Given the description of an element on the screen output the (x, y) to click on. 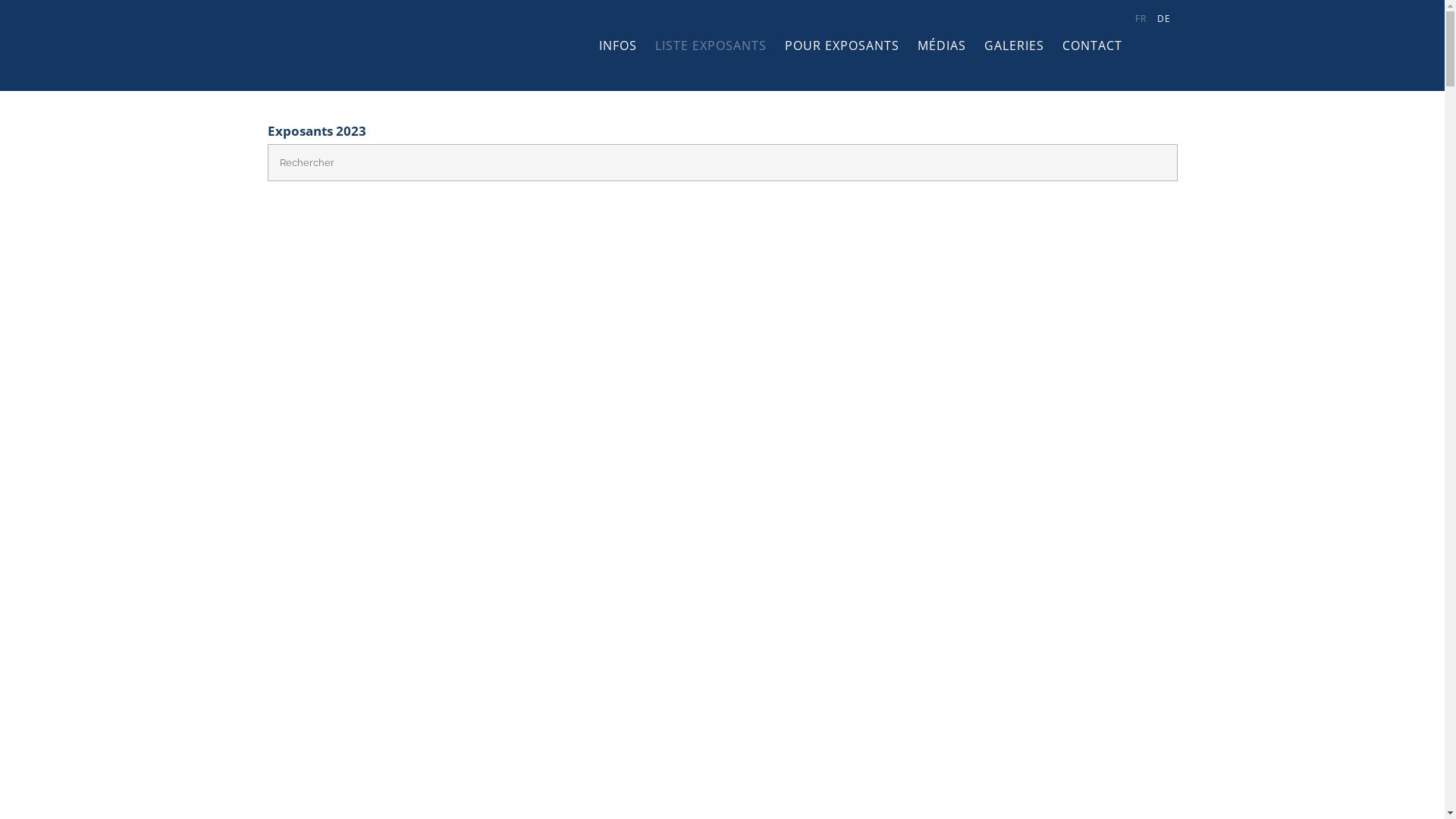
CONTACT Element type: text (1091, 45)
DE Element type: text (1164, 18)
POUR EXPOSANTS Element type: text (841, 45)
INFOS Element type: text (617, 45)
FR Element type: text (1142, 18)
GALERIES Element type: text (1014, 45)
LISTE EXPOSANTS Element type: text (710, 45)
